Given the description of an element on the screen output the (x, y) to click on. 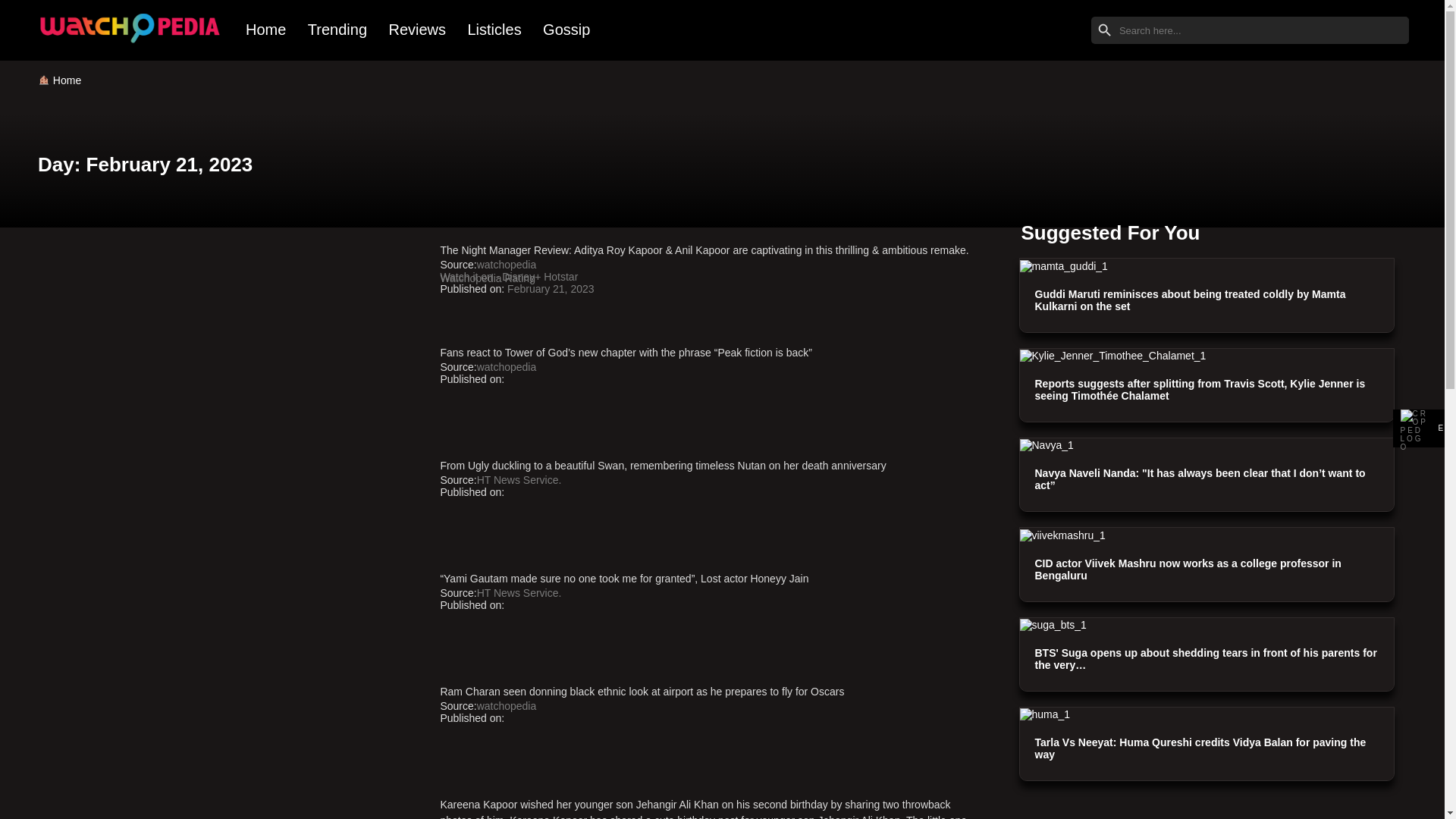
Home (265, 29)
SEARCH BUTTON (1104, 30)
Gossip (566, 29)
Reviews (416, 29)
Home (66, 80)
Trending (336, 29)
Listicles (493, 29)
